Given the description of an element on the screen output the (x, y) to click on. 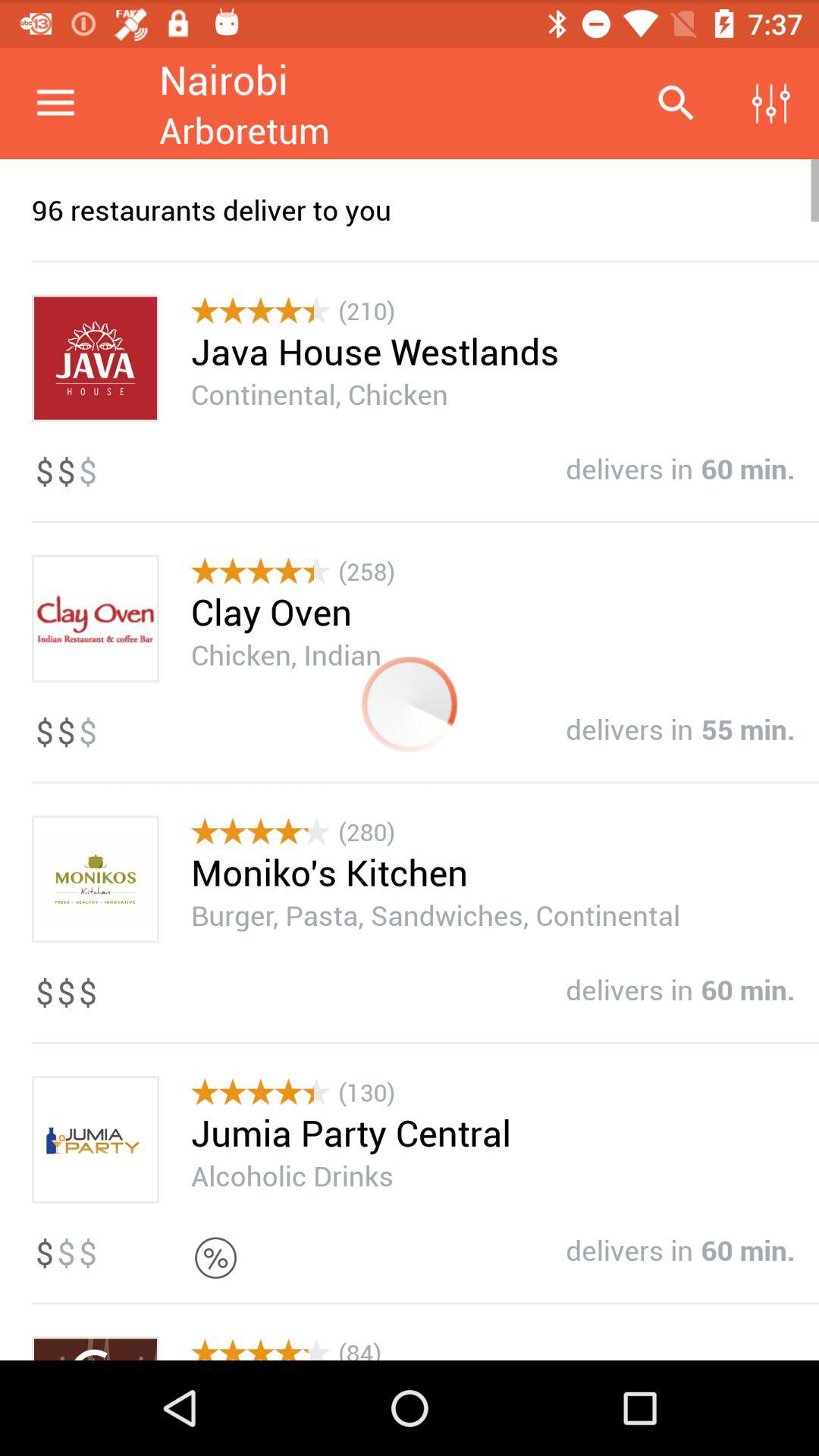
press icon above the 96 restaurants deliver (675, 103)
